Given the description of an element on the screen output the (x, y) to click on. 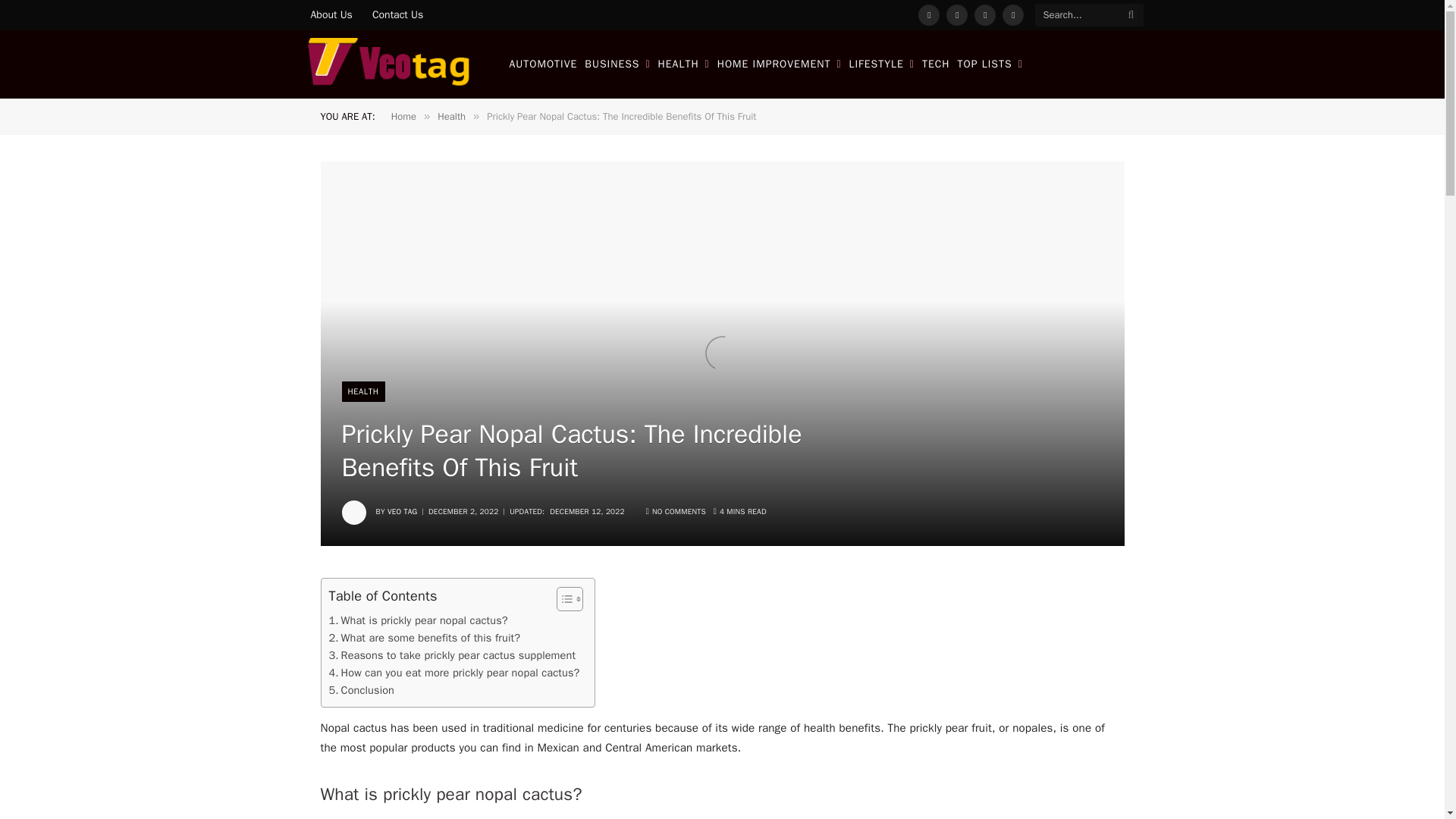
Instagram (984, 14)
Contact Us (397, 15)
Posts by Veo Tag (401, 511)
Pinterest (1013, 14)
Veo Tag (389, 64)
About Us (330, 15)
Facebook (928, 14)
